Given the description of an element on the screen output the (x, y) to click on. 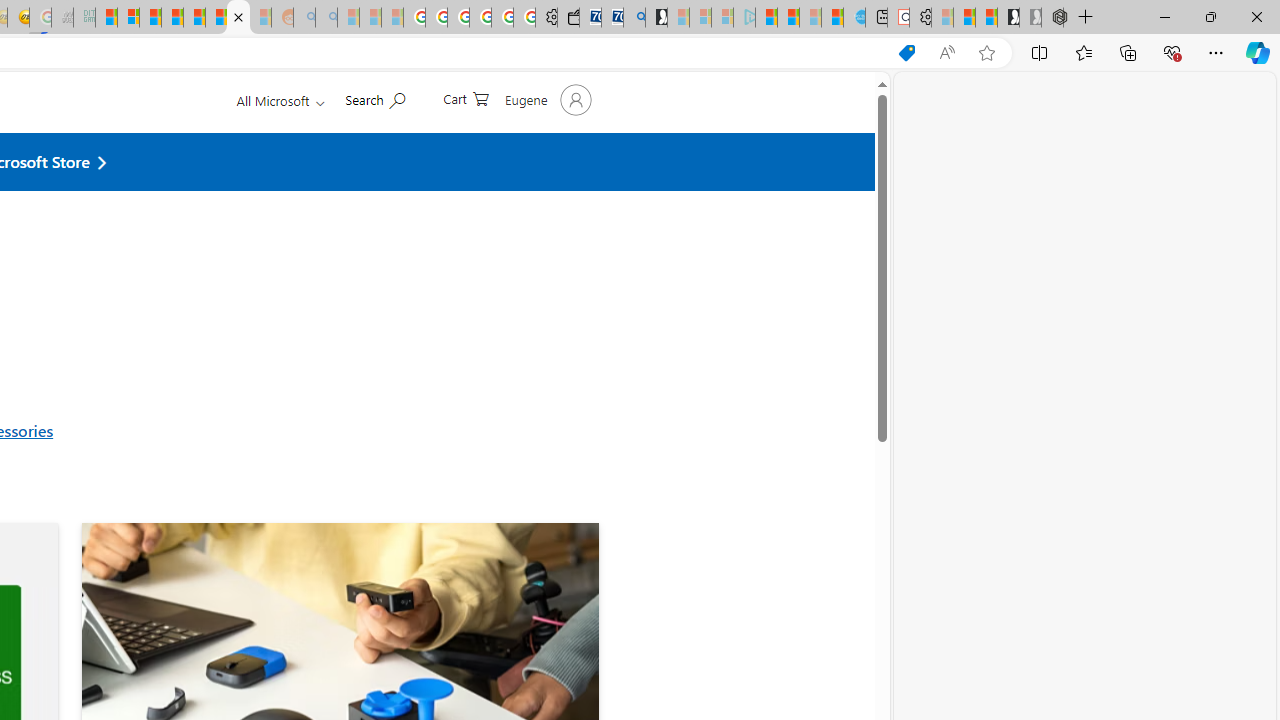
Kinda Frugal - MSN (216, 17)
PC and Computer Accessories & Tech Gadgets - Microsoft Store (238, 17)
